Given the description of an element on the screen output the (x, y) to click on. 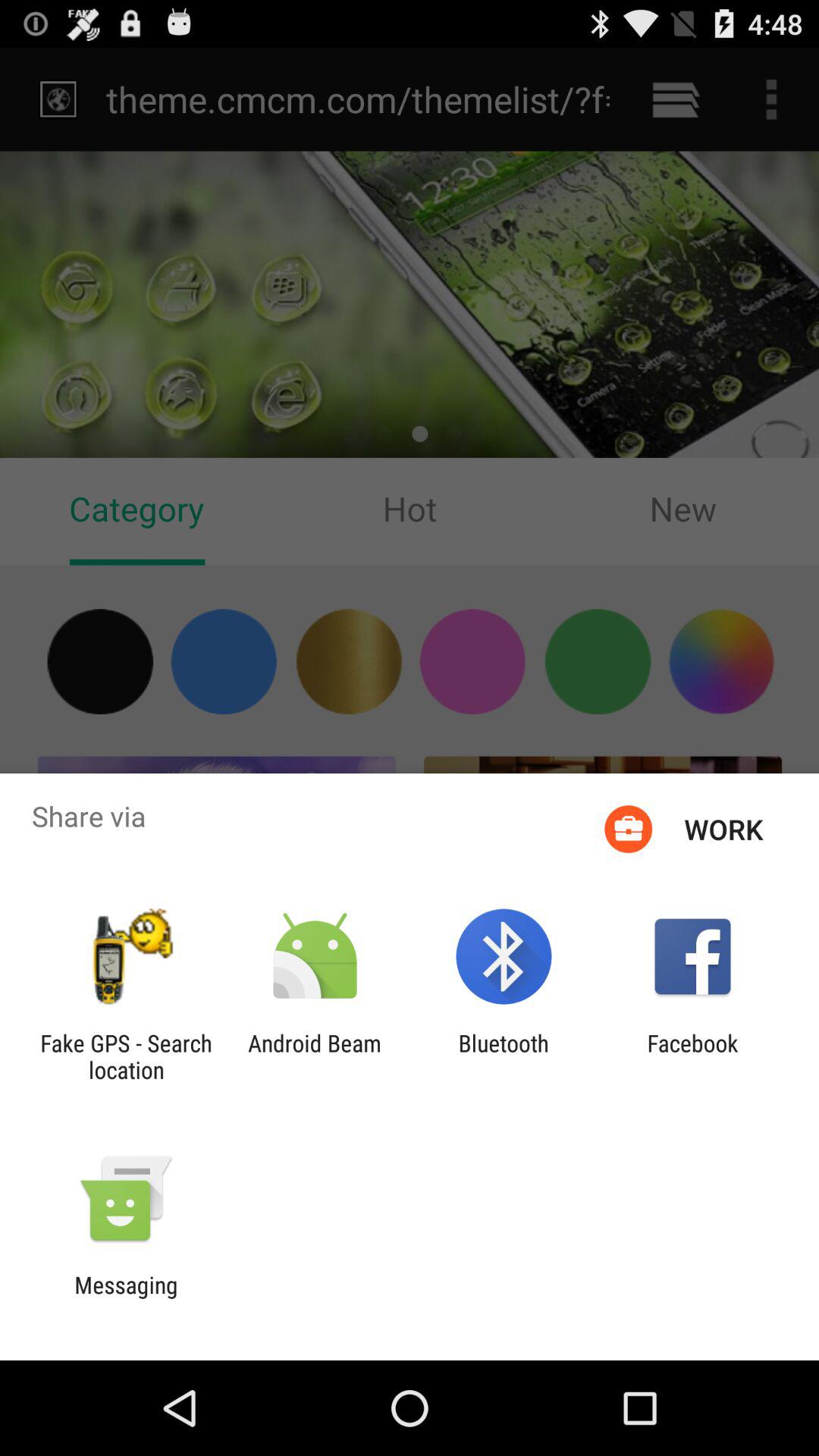
scroll to the bluetooth app (503, 1056)
